Given the description of an element on the screen output the (x, y) to click on. 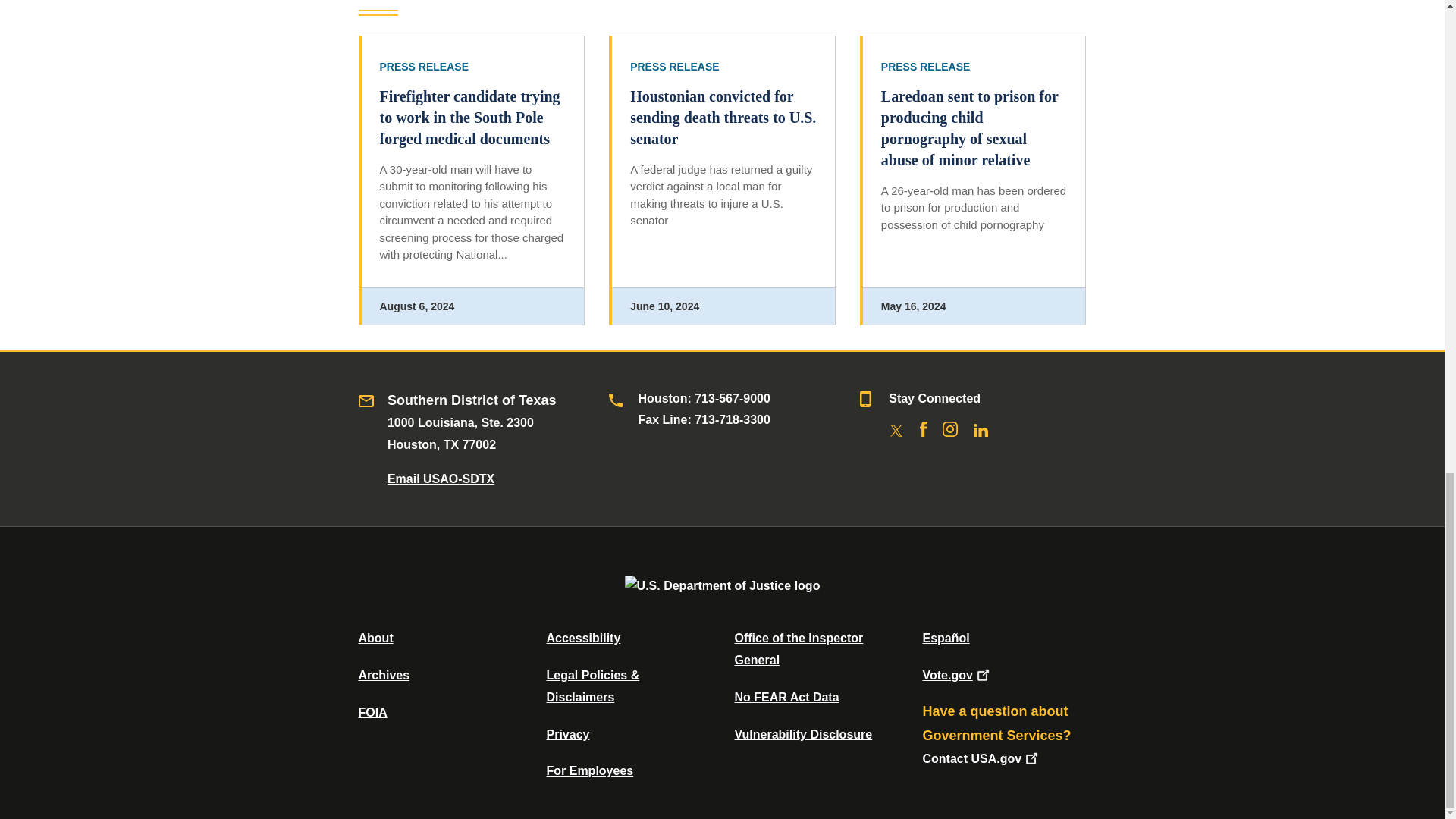
About DOJ (375, 637)
Data Posted Pursuant To The No Fear Act (785, 697)
Office of Information Policy (372, 712)
Accessibility Statement (583, 637)
Legal Policies and Disclaimers (592, 686)
Department of Justice Archive (383, 675)
For Employees (589, 770)
